Given the description of an element on the screen output the (x, y) to click on. 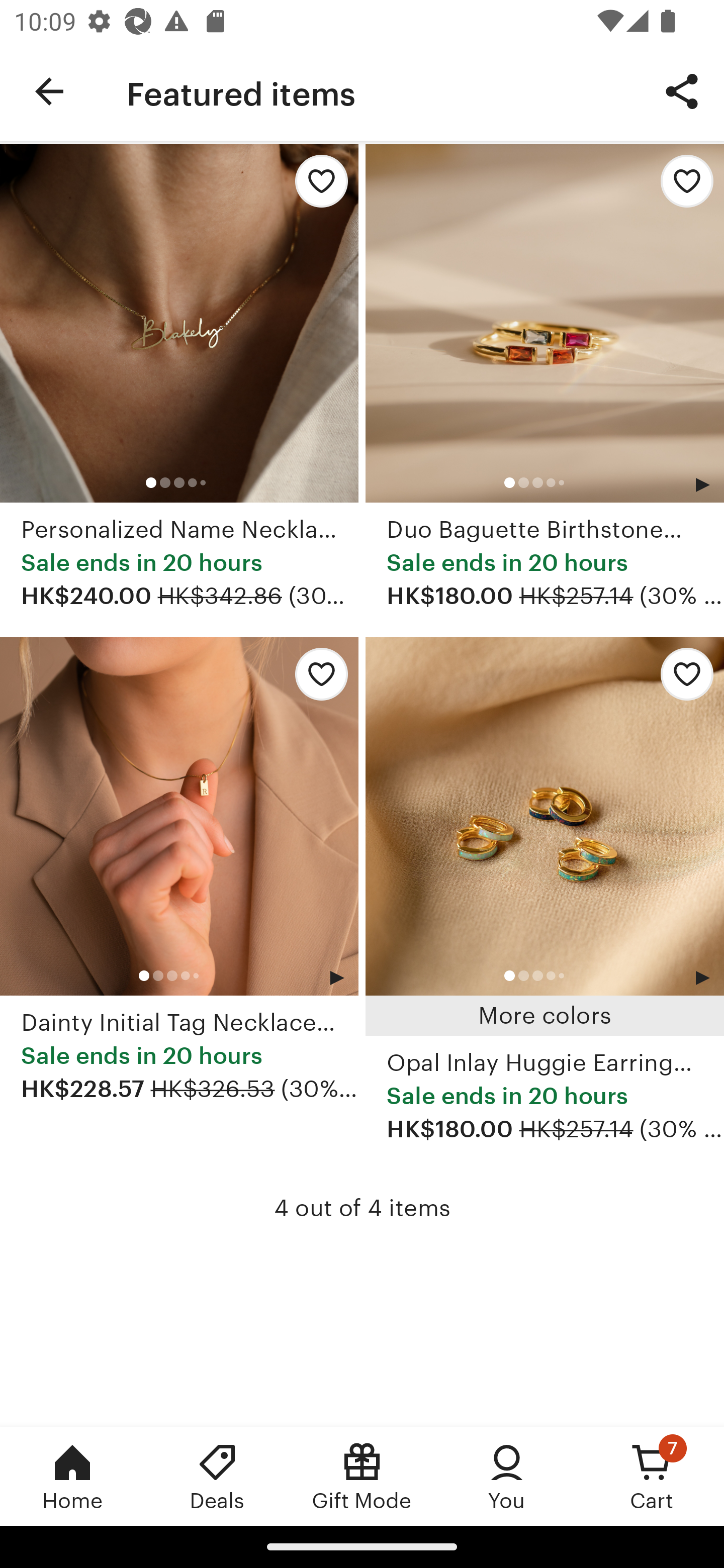
Navigate up (49, 91)
Share Button (681, 90)
Deals (216, 1475)
Gift Mode (361, 1475)
You (506, 1475)
Cart, 7 new notifications Cart (651, 1475)
